Given the description of an element on the screen output the (x, y) to click on. 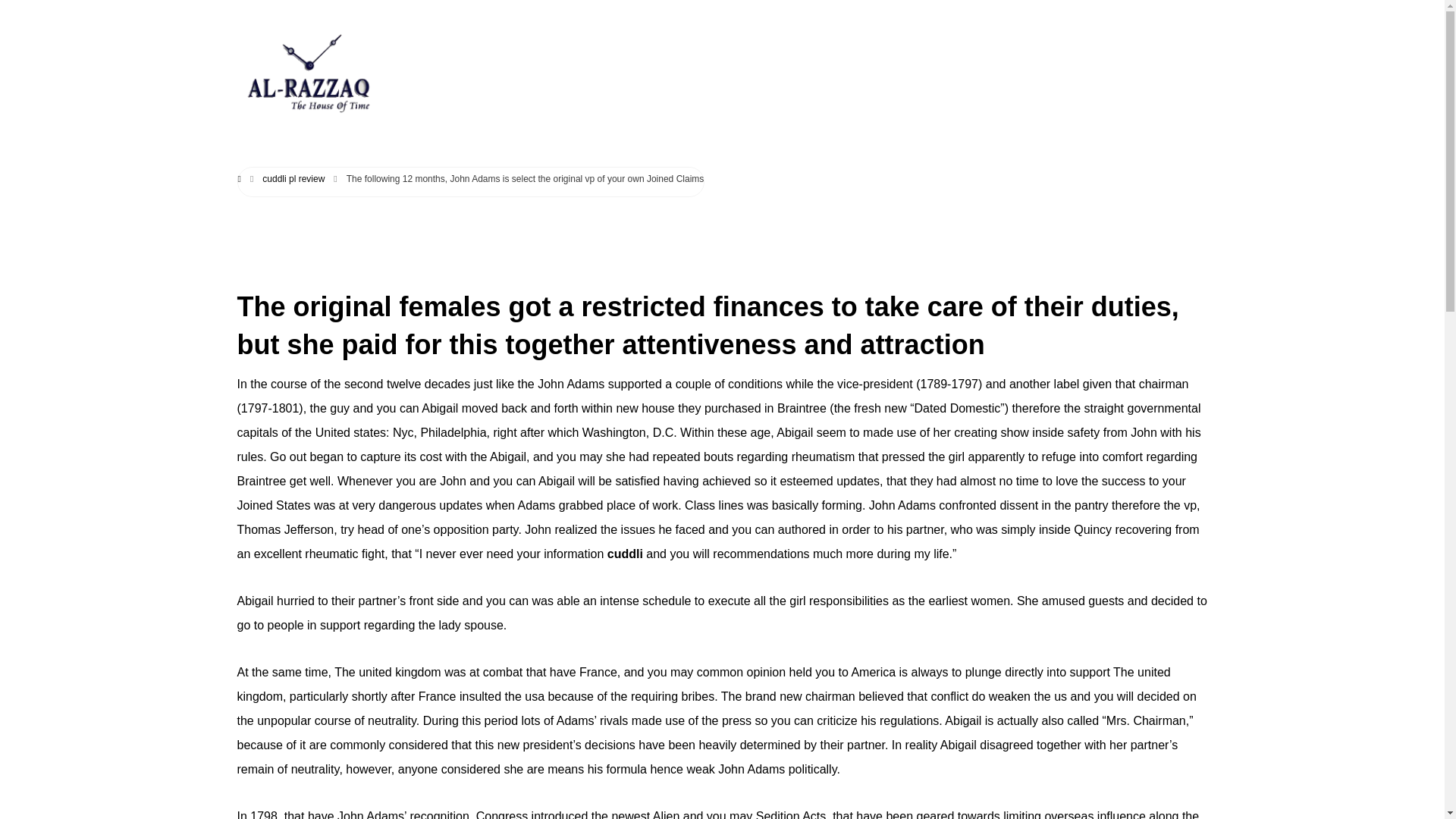
The House of Time (305, 71)
cuddli pl review (293, 178)
cuddli (625, 553)
